Given the description of an element on the screen output the (x, y) to click on. 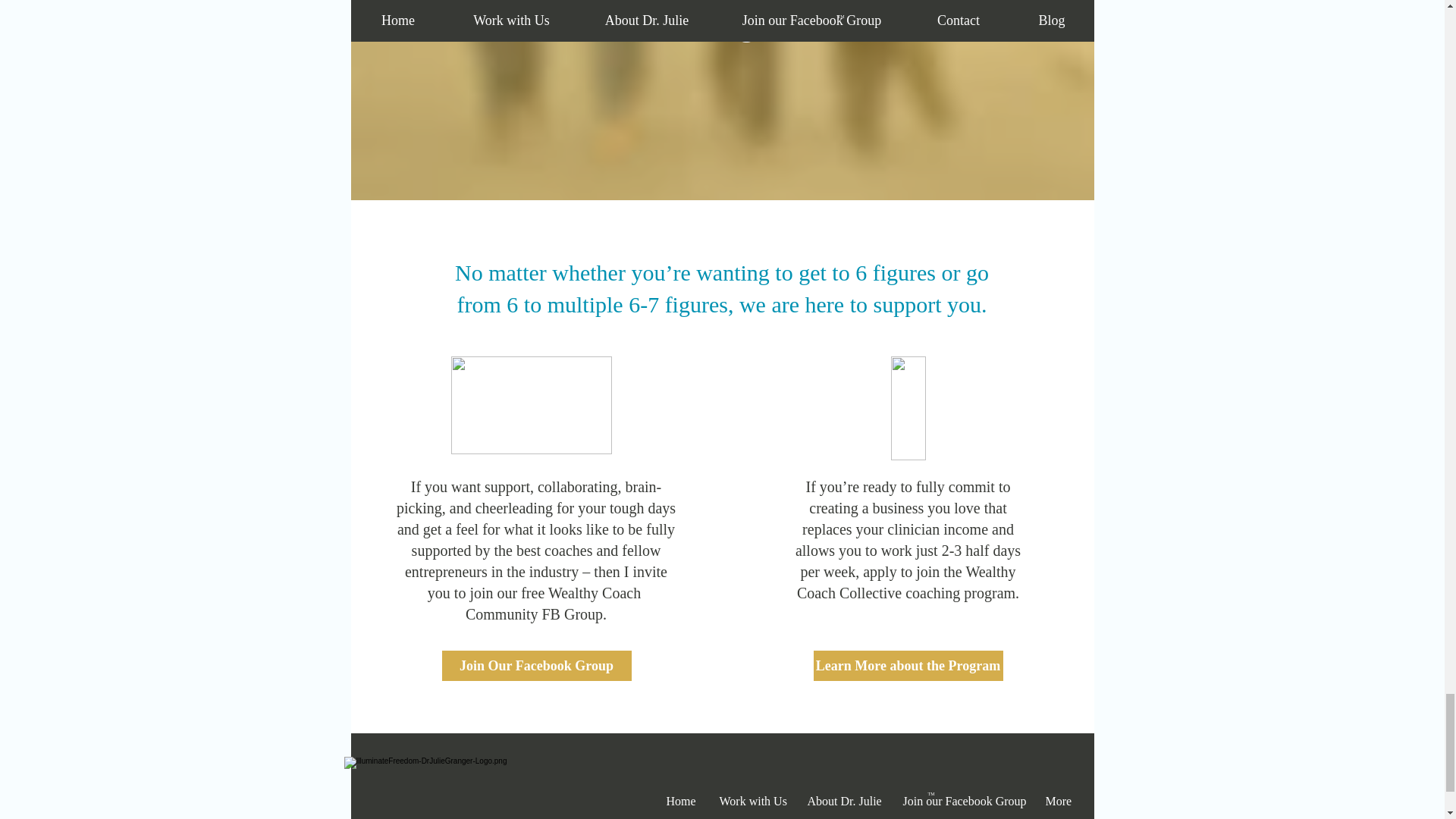
Join Our Facebook Group (535, 665)
IF-Home-FacebookGroup.png (530, 405)
Work with Us (750, 800)
Home (679, 800)
About Dr. Julie (841, 800)
Learn More about the Program (907, 665)
Join our Facebook Group (960, 800)
